Given the description of an element on the screen output the (x, y) to click on. 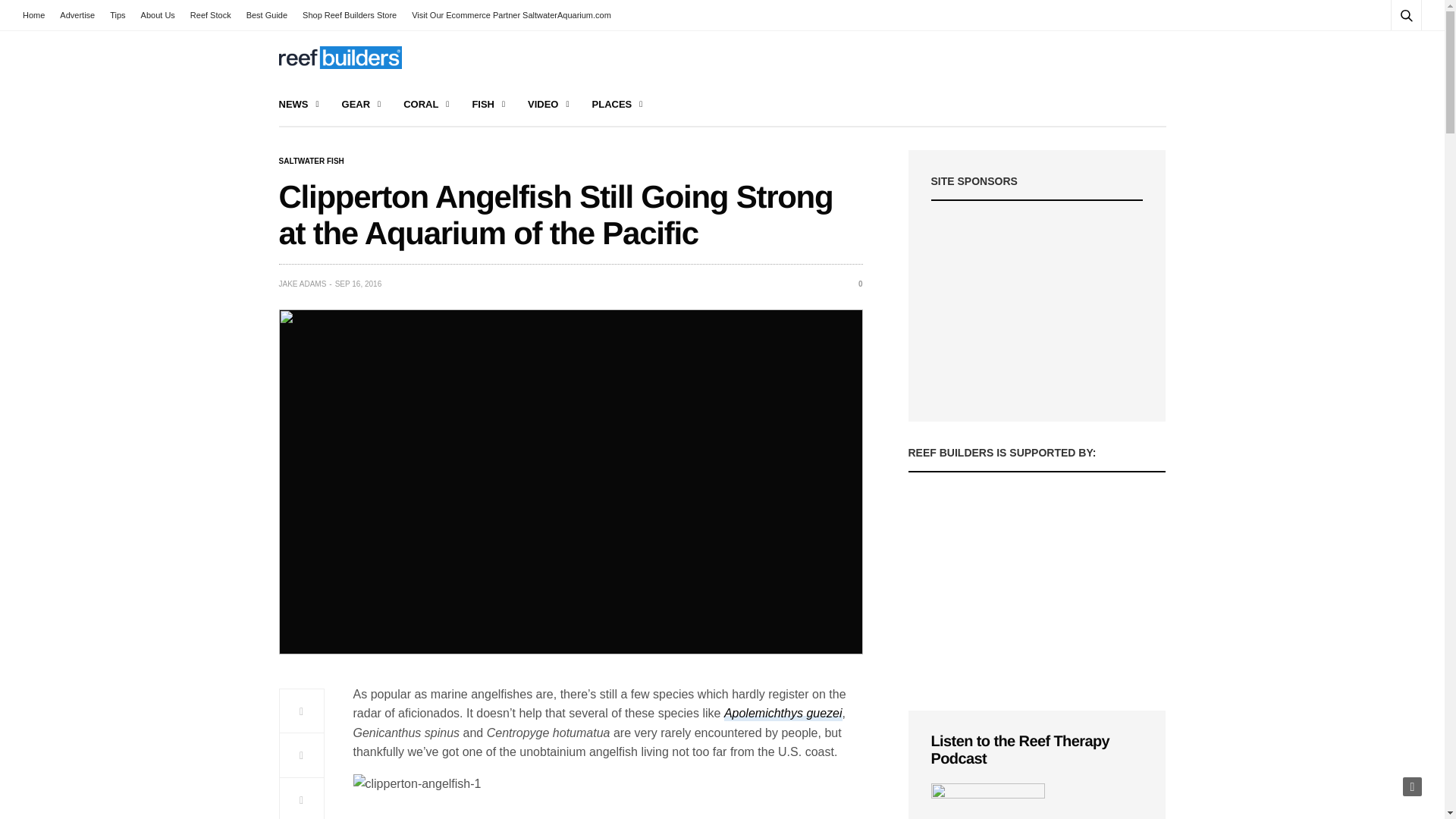
GEAR (361, 105)
Posts by Jake Adams (302, 284)
Saltwater Fish (311, 161)
NEWS (298, 105)
Advertise (76, 15)
Home (37, 15)
About Us (158, 15)
Shop Reef Builders Store (349, 15)
Tips (116, 15)
